Given the description of an element on the screen output the (x, y) to click on. 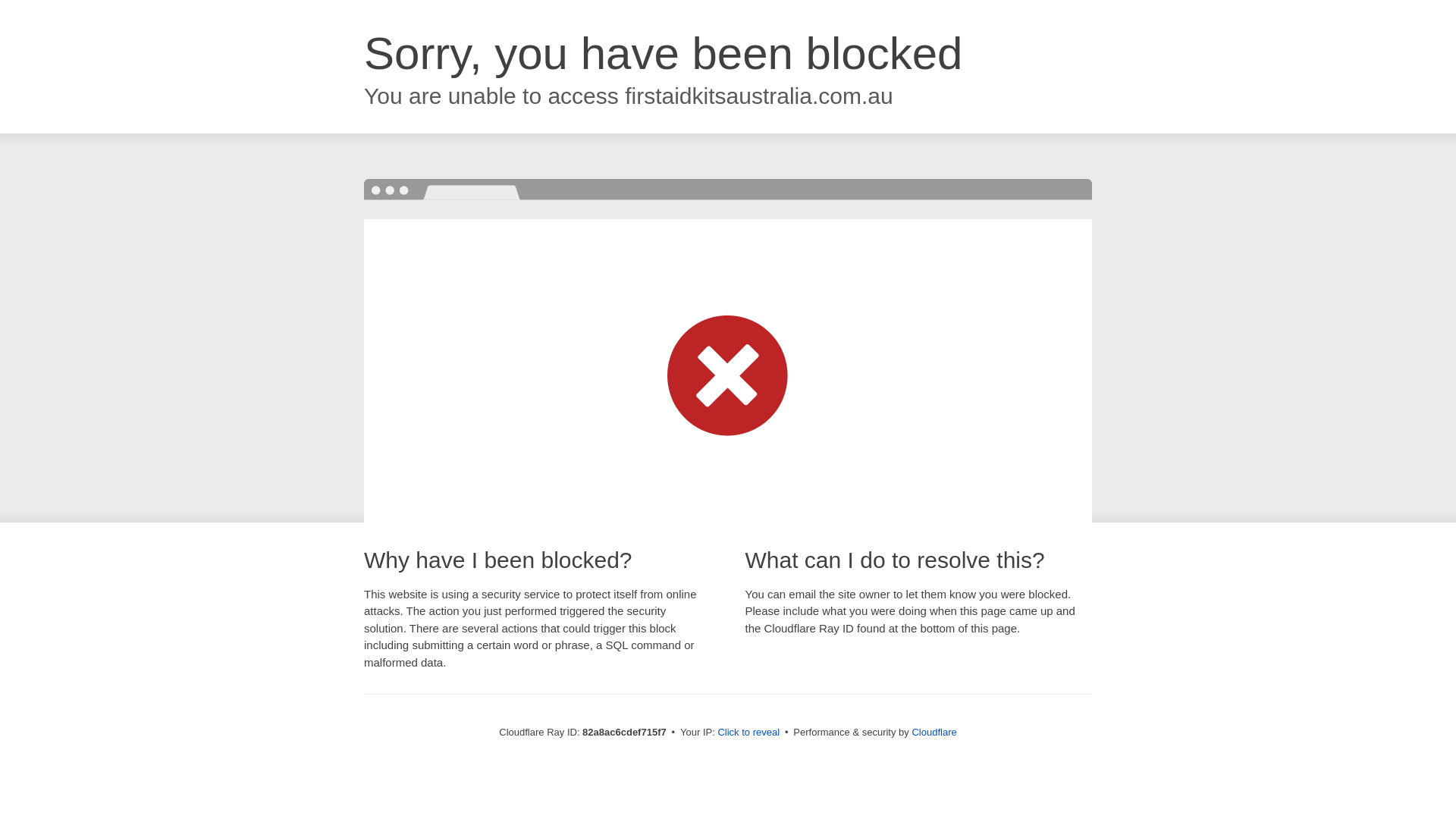
Cloudflare Element type: text (933, 731)
Click to reveal Element type: text (748, 732)
